Given the description of an element on the screen output the (x, y) to click on. 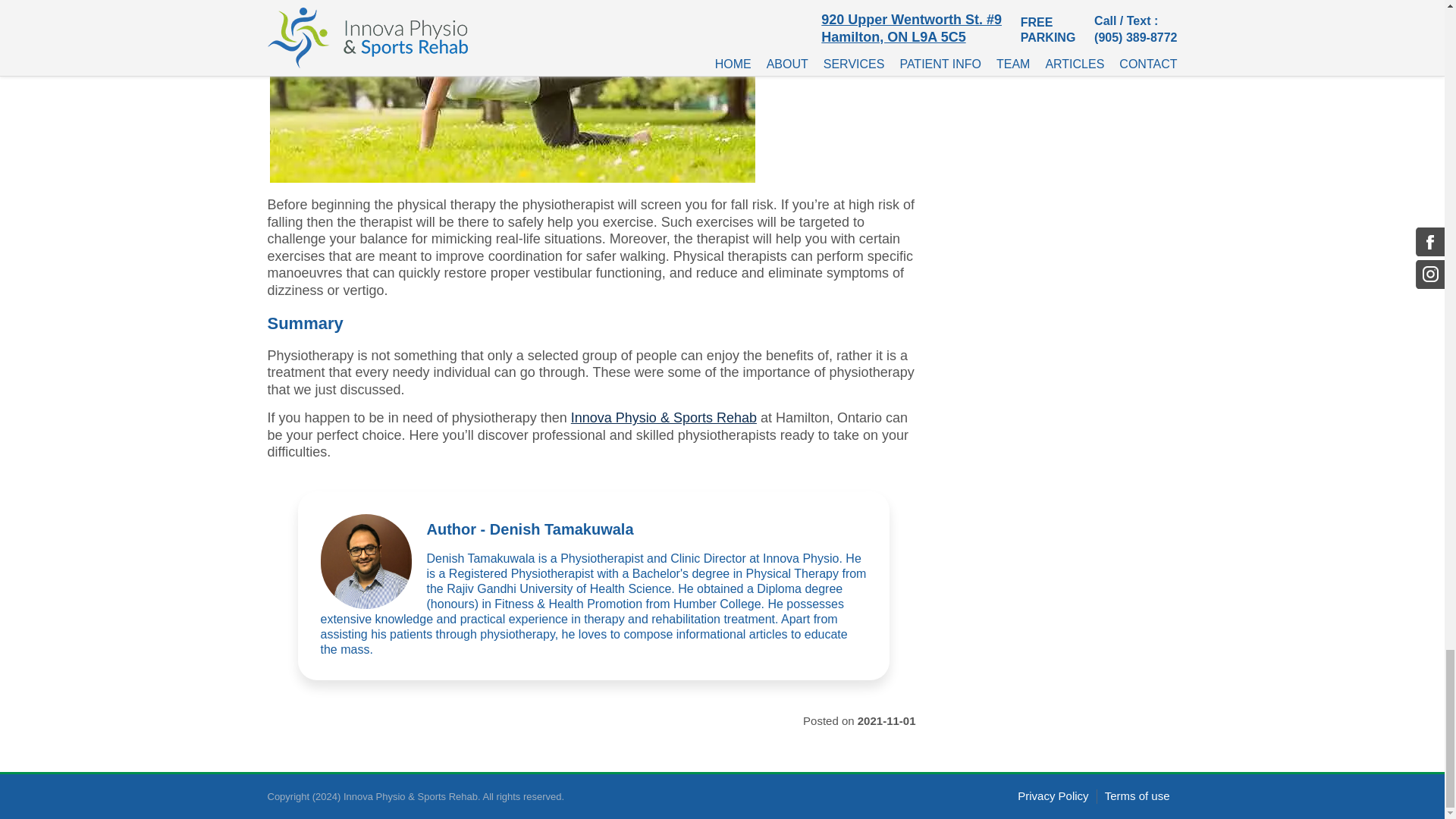
Denish Tambakuwala (365, 561)
